Given the description of an element on the screen output the (x, y) to click on. 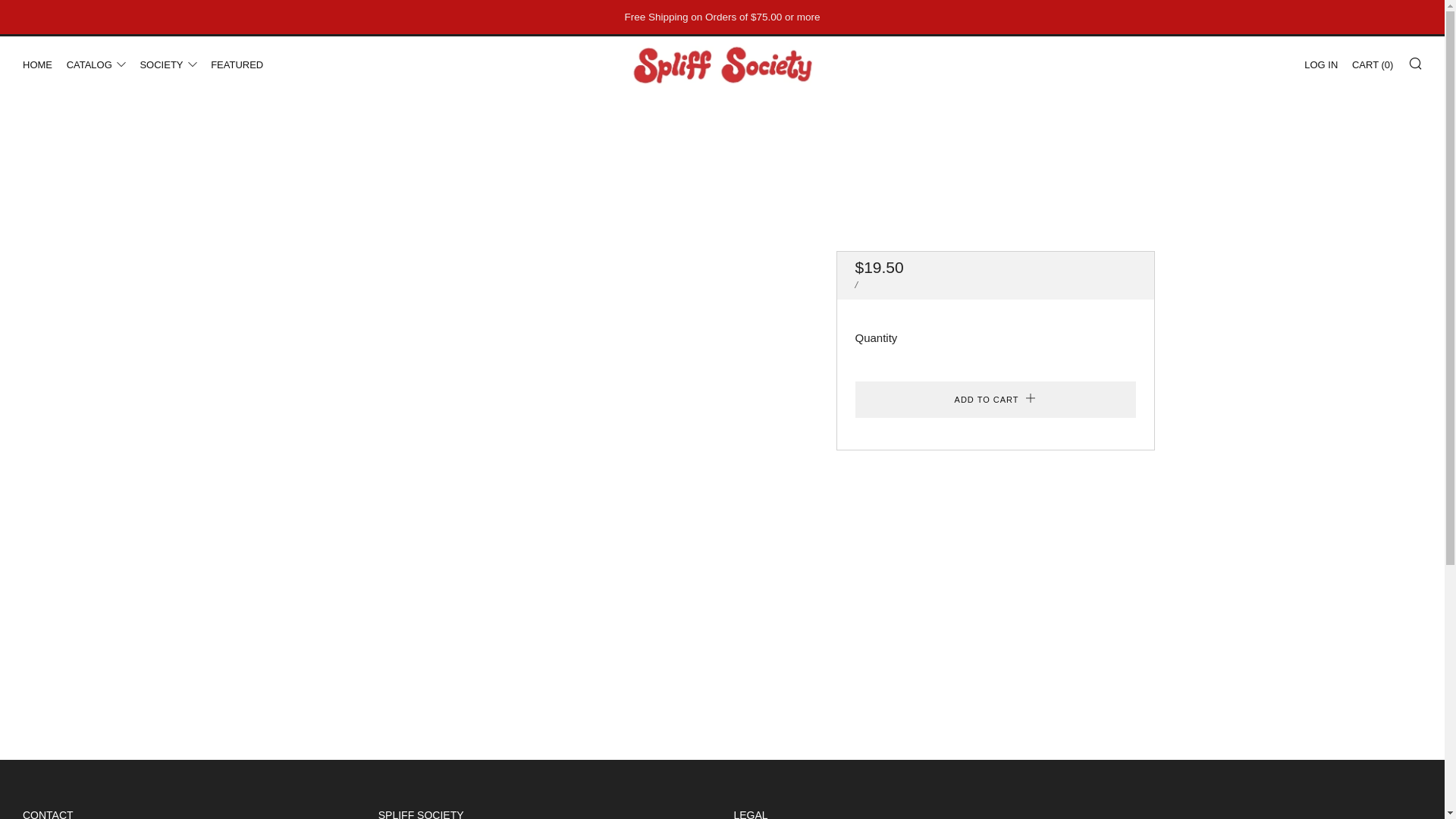
SOCIETY (167, 64)
CATALOG (95, 64)
HOME (37, 64)
ADD TO CART (995, 399)
LOG IN (1321, 64)
SEARCH (1414, 62)
FEATURED (237, 64)
